Given the description of an element on the screen output the (x, y) to click on. 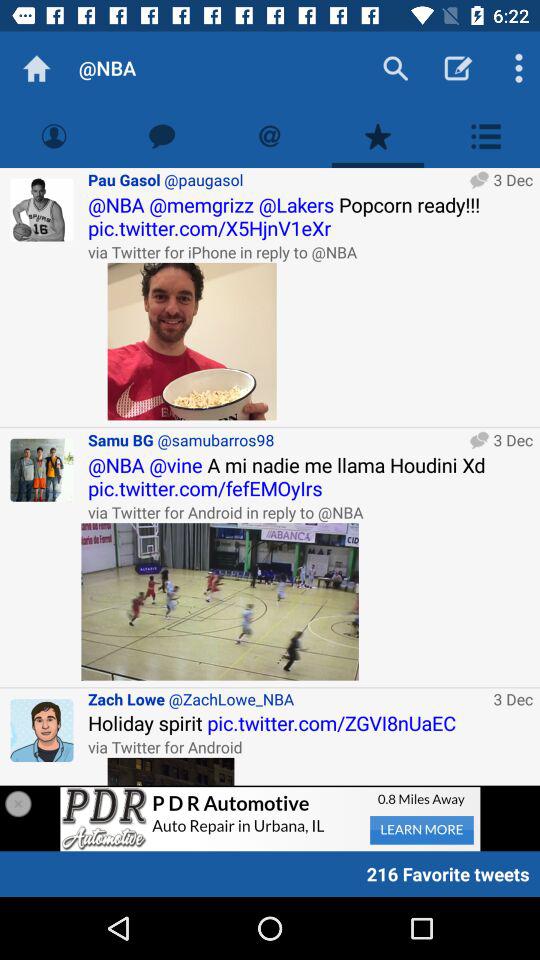
tap icon above the via twitter for icon (310, 216)
